Given the description of an element on the screen output the (x, y) to click on. 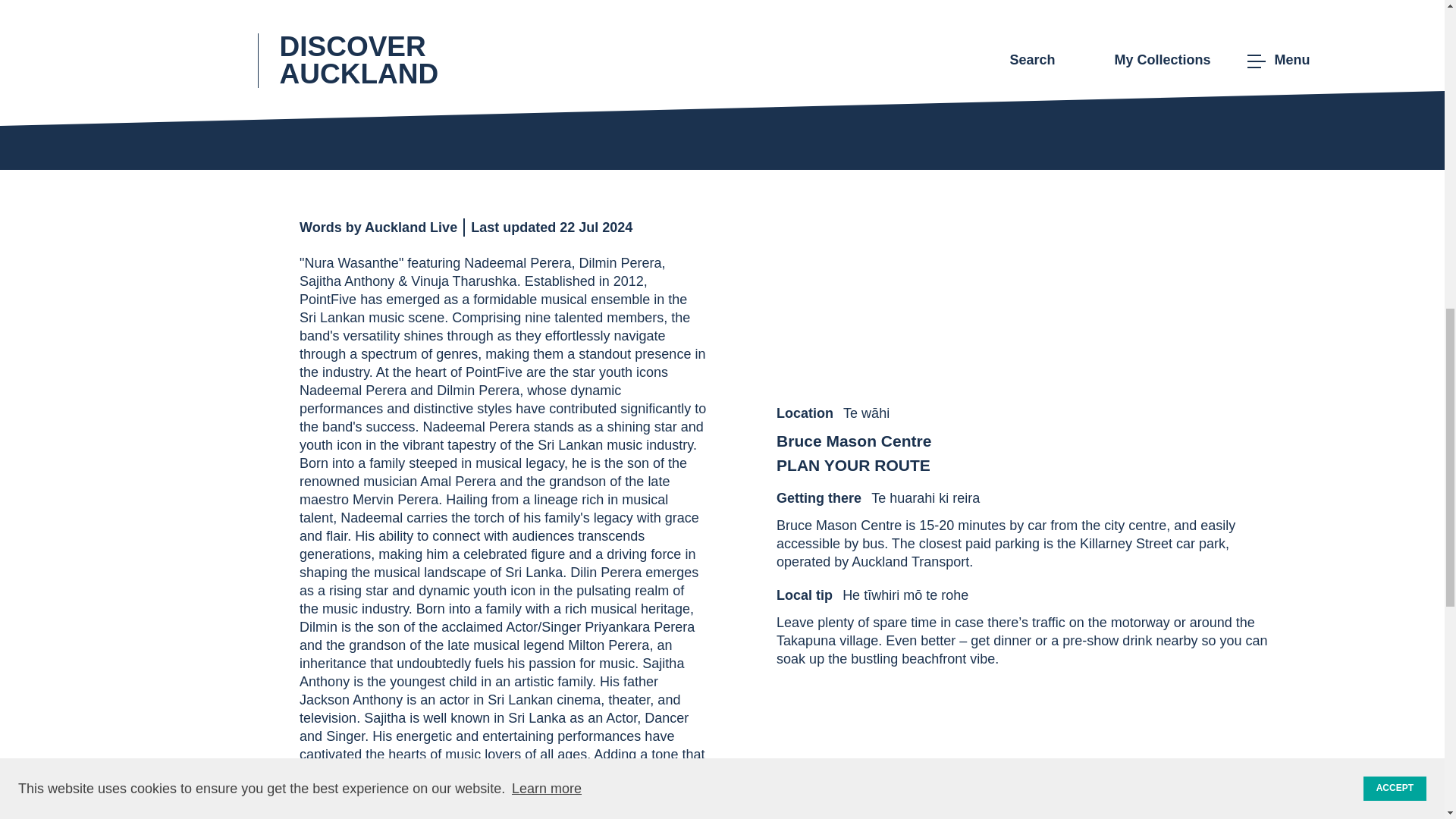
PLAN YOUR ROUTE (864, 465)
VISIT WEBSITE (812, 87)
BRUCE MASON CENTRE (551, 87)
